Given the description of an element on the screen output the (x, y) to click on. 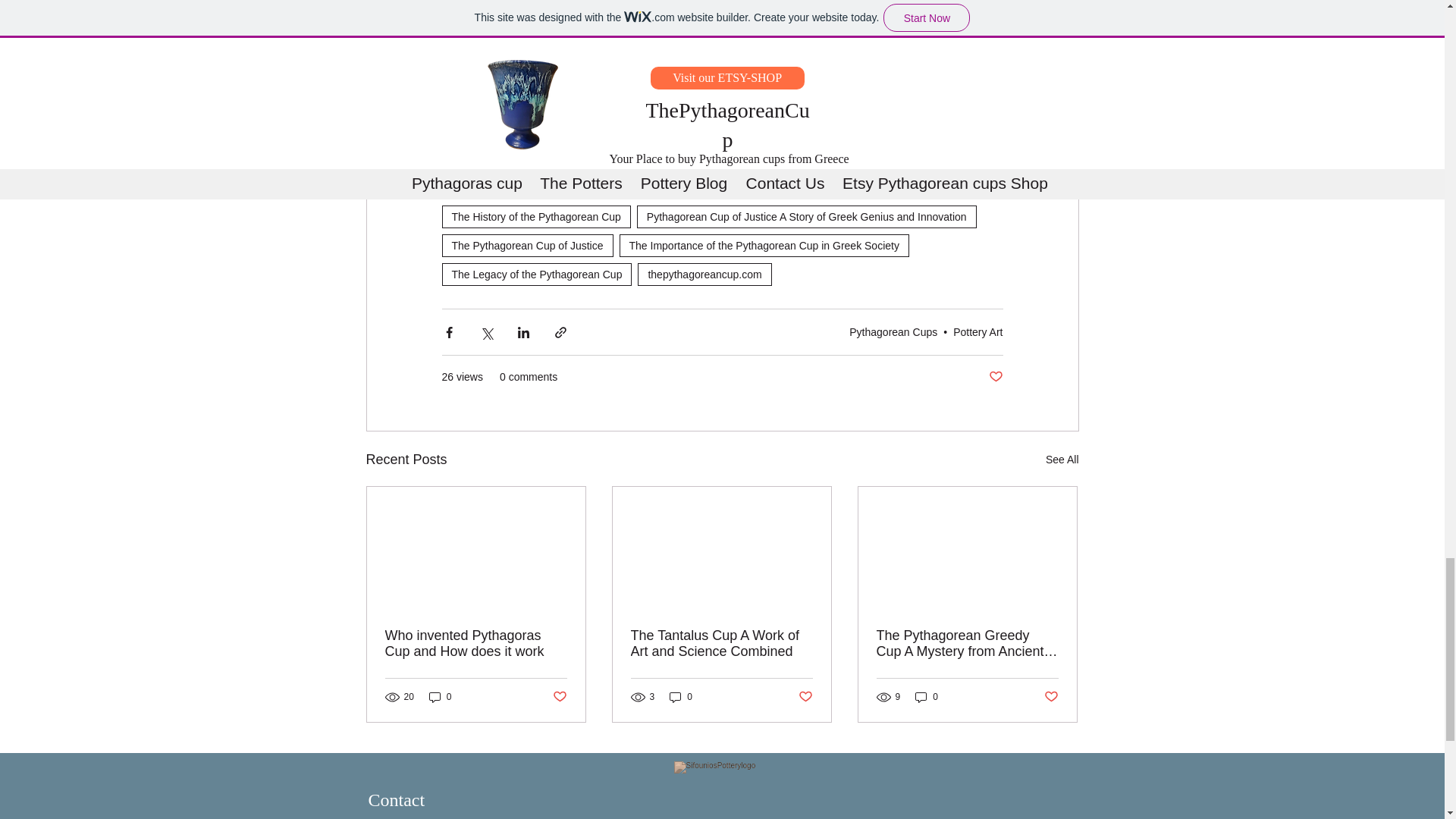
Post not marked as liked (995, 376)
The History of the Pythagorean Cup (535, 216)
The Importance of the Pythagorean Cup in Greek Society (764, 245)
Sifounios Pottery logo (722, 786)
The Significance of the Pythagorean Cup (547, 187)
0 (440, 697)
See All (1061, 459)
thepythagoreancup.com (704, 273)
The Pythagorean Cup of Justice (526, 245)
